Given the description of an element on the screen output the (x, y) to click on. 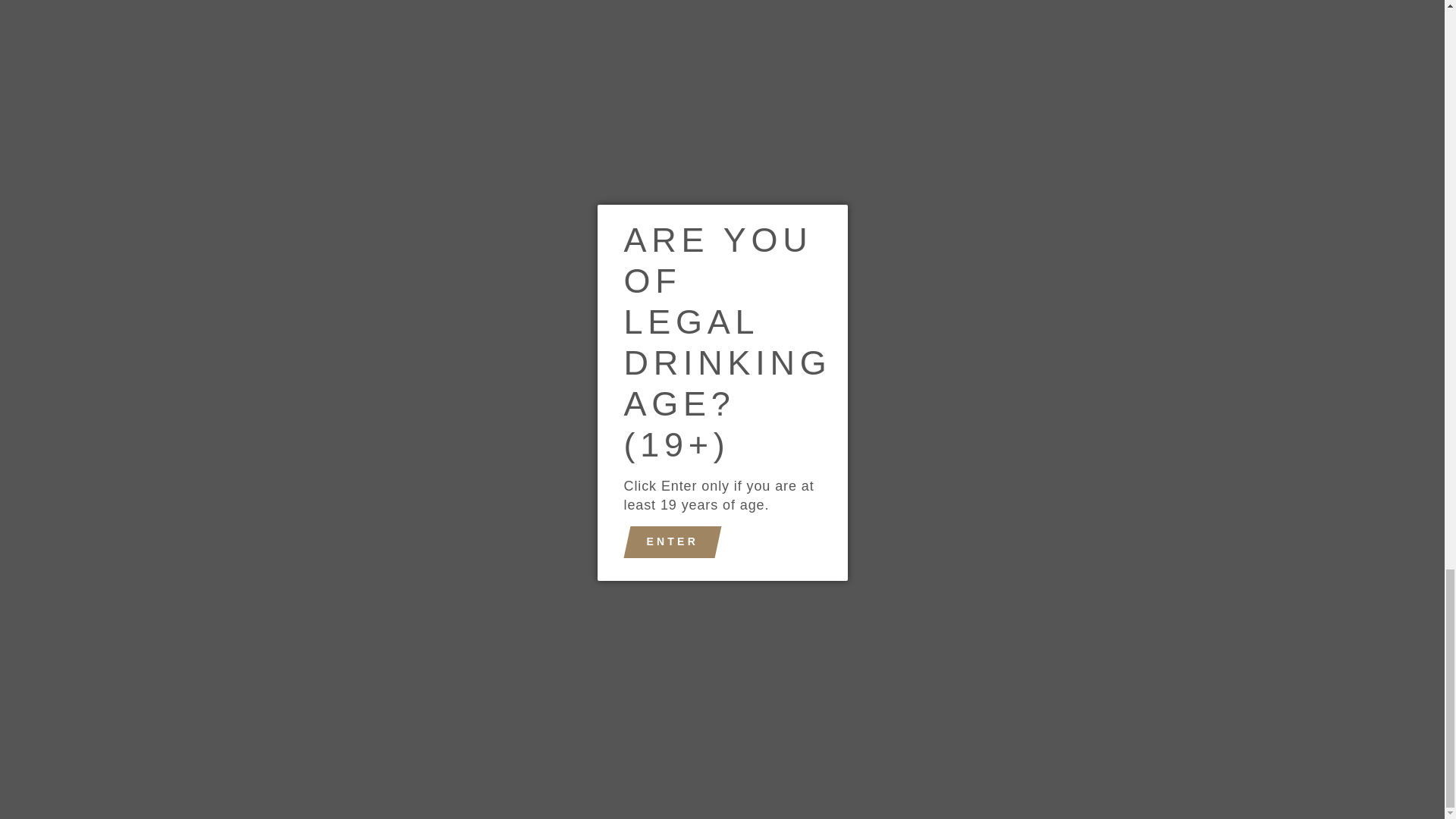
Shop Pay (809, 728)
Visa (844, 728)
Ridge Rock Brewing Company on Instagram (192, 675)
Mastercard (774, 728)
American Express (599, 728)
Ridge Rock Brewing Company on Facebook (222, 675)
Google Pay (739, 728)
Apple Pay (634, 728)
Ridge Rock Brewing Company on Twitter (251, 675)
Discover (704, 728)
